Given the description of an element on the screen output the (x, y) to click on. 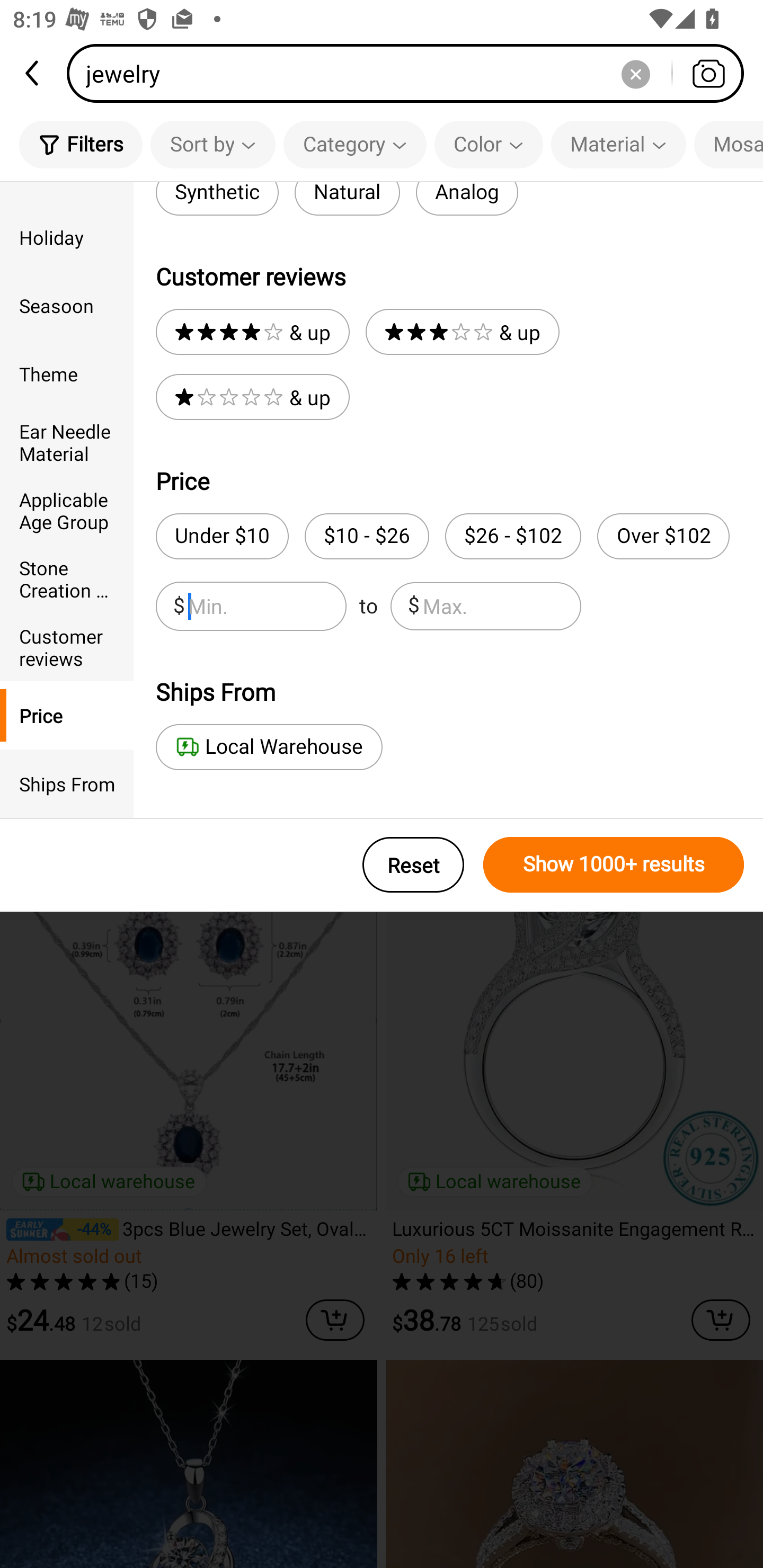
back (33, 72)
jewelry (411, 73)
Delete search history (635, 73)
Search by photo (708, 73)
Filters (80, 143)
Sort by (212, 143)
Category (354, 143)
Color (488, 143)
Material (617, 143)
Mosaic Material (728, 143)
Synthetic (216, 198)
Natural (346, 198)
Analog (466, 198)
Holiday (66, 236)
Seasoon (66, 305)
& up (252, 331)
& up (462, 331)
Theme (66, 373)
& up (252, 397)
Ear Needle Material (66, 441)
